Given the description of an element on the screen output the (x, y) to click on. 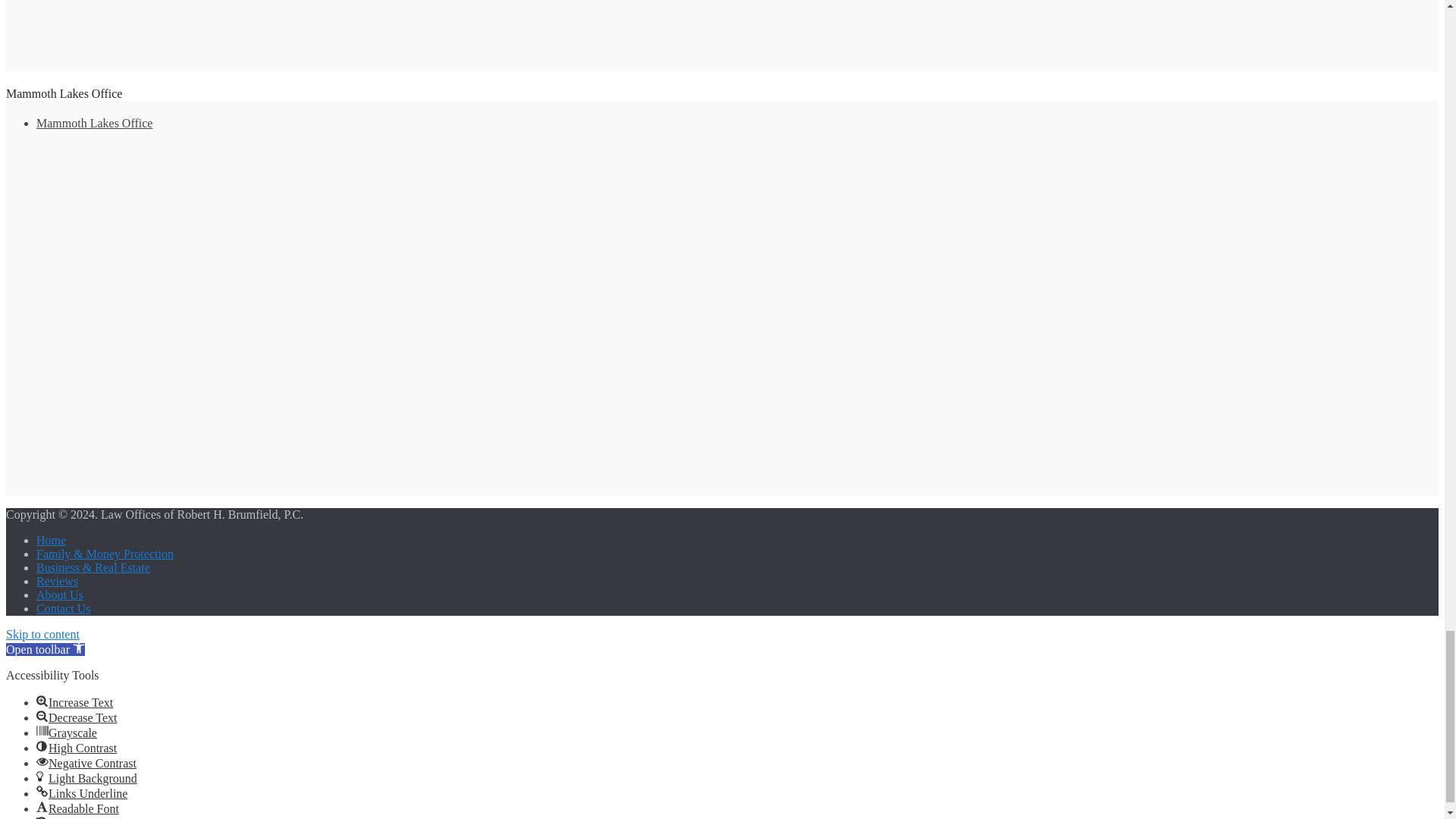
Readable Font (42, 806)
Light Background (42, 776)
Negative Contrast (42, 761)
Grayscale (42, 730)
High Contrast (42, 746)
Accessibility Tools (44, 649)
Links Underline (42, 791)
Increase Text (42, 700)
Decrease Text (42, 715)
Accessibility Tools (78, 647)
